Given the description of an element on the screen output the (x, y) to click on. 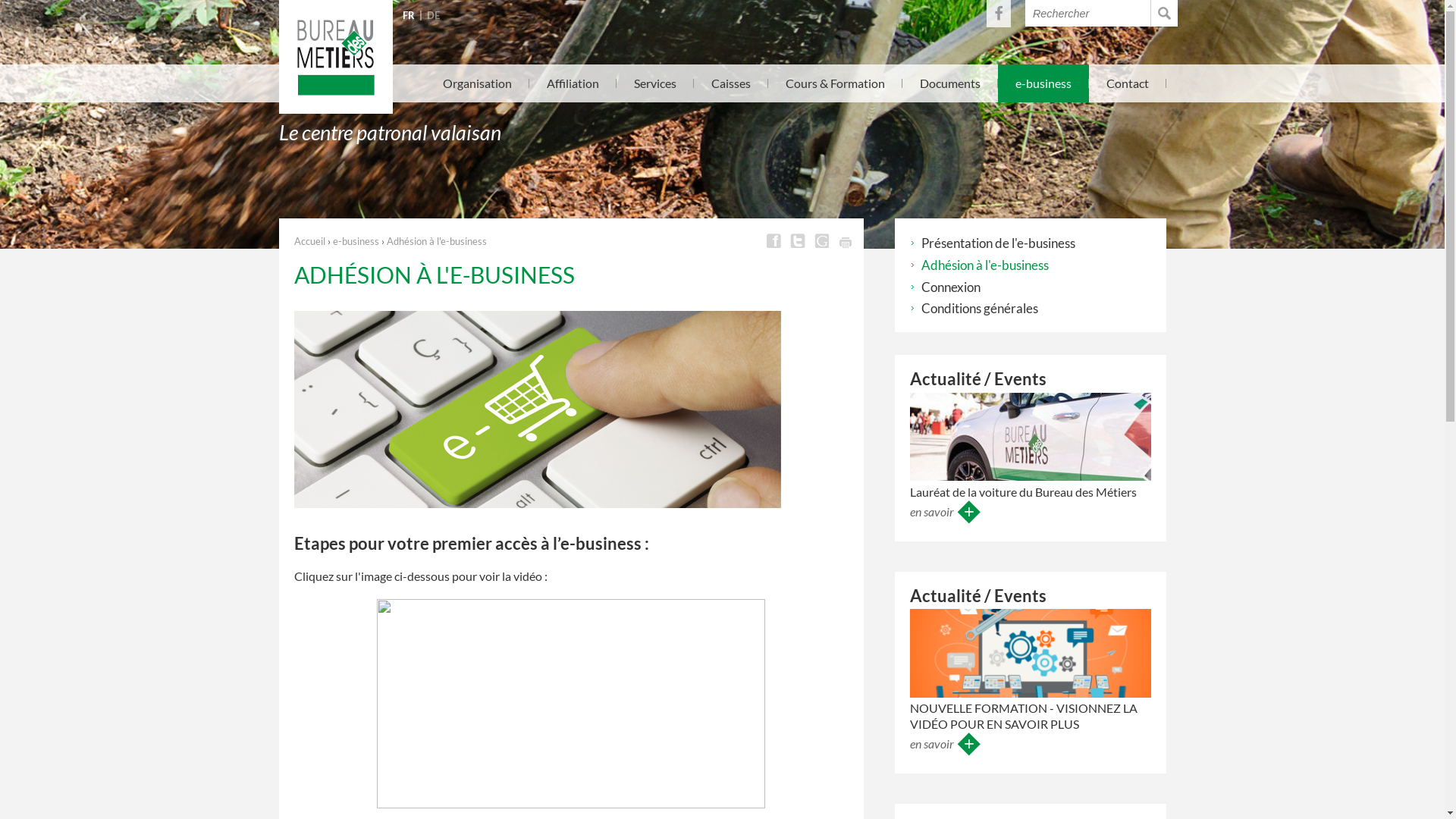
FR Element type: text (407, 15)
e-business Element type: text (355, 241)
Documents Element type: text (949, 83)
Cours & Formation Element type: text (834, 83)
Services Element type: text (654, 83)
Connexion Element type: text (945, 286)
Contact Element type: text (1126, 83)
en savoir Element type: text (946, 511)
Accueil Element type: text (309, 241)
Affiliation Element type: text (572, 83)
Caisses Element type: text (730, 83)
DE Element type: text (432, 15)
Share on Google+ Element type: hover (820, 240)
e-business Element type: text (1042, 83)
Imprimer Element type: hover (844, 240)
en savoir Element type: text (946, 743)
Organisation Element type: text (476, 83)
